Given the description of an element on the screen output the (x, y) to click on. 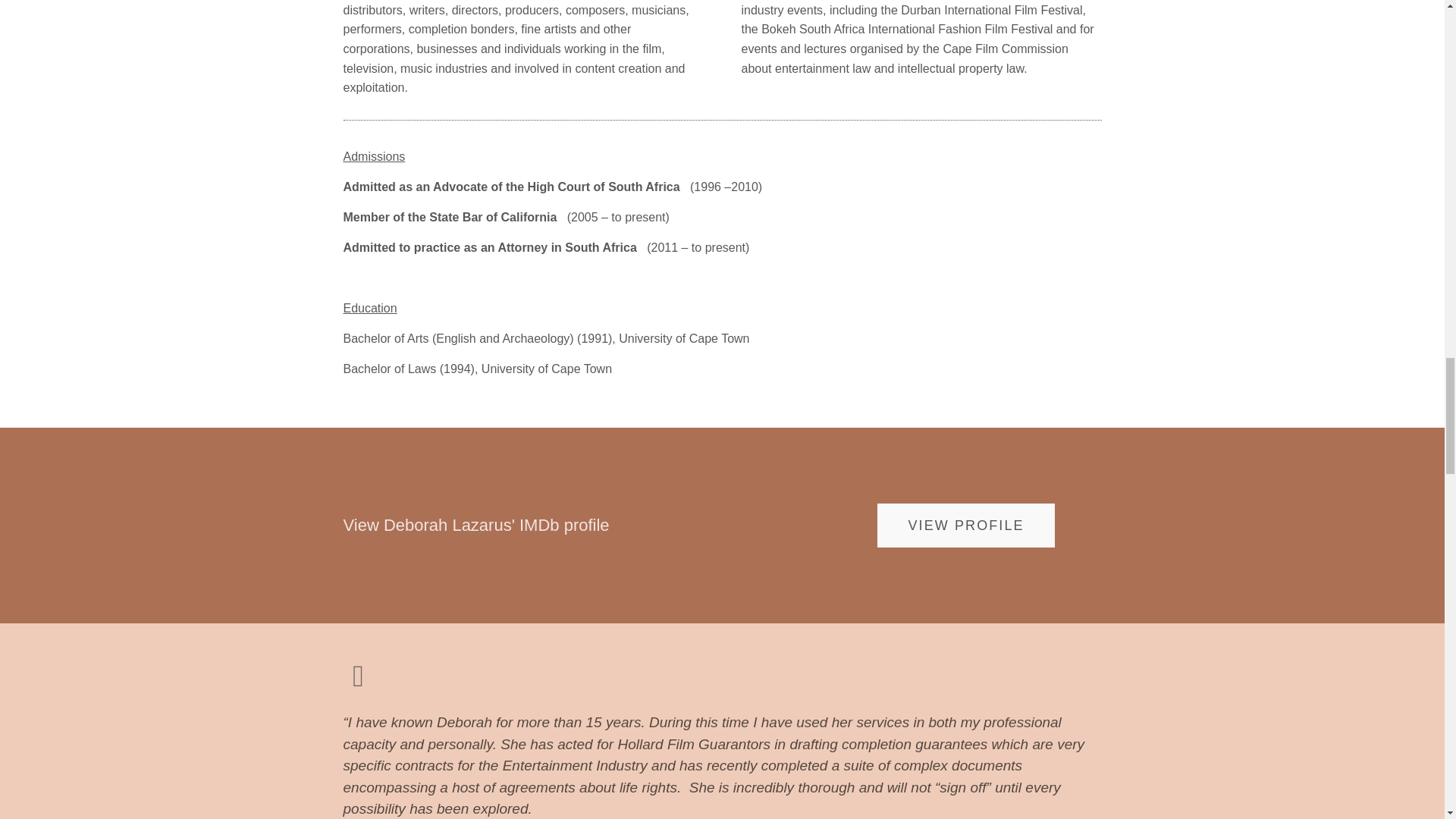
VIEW PROFILE (965, 525)
